Given the description of an element on the screen output the (x, y) to click on. 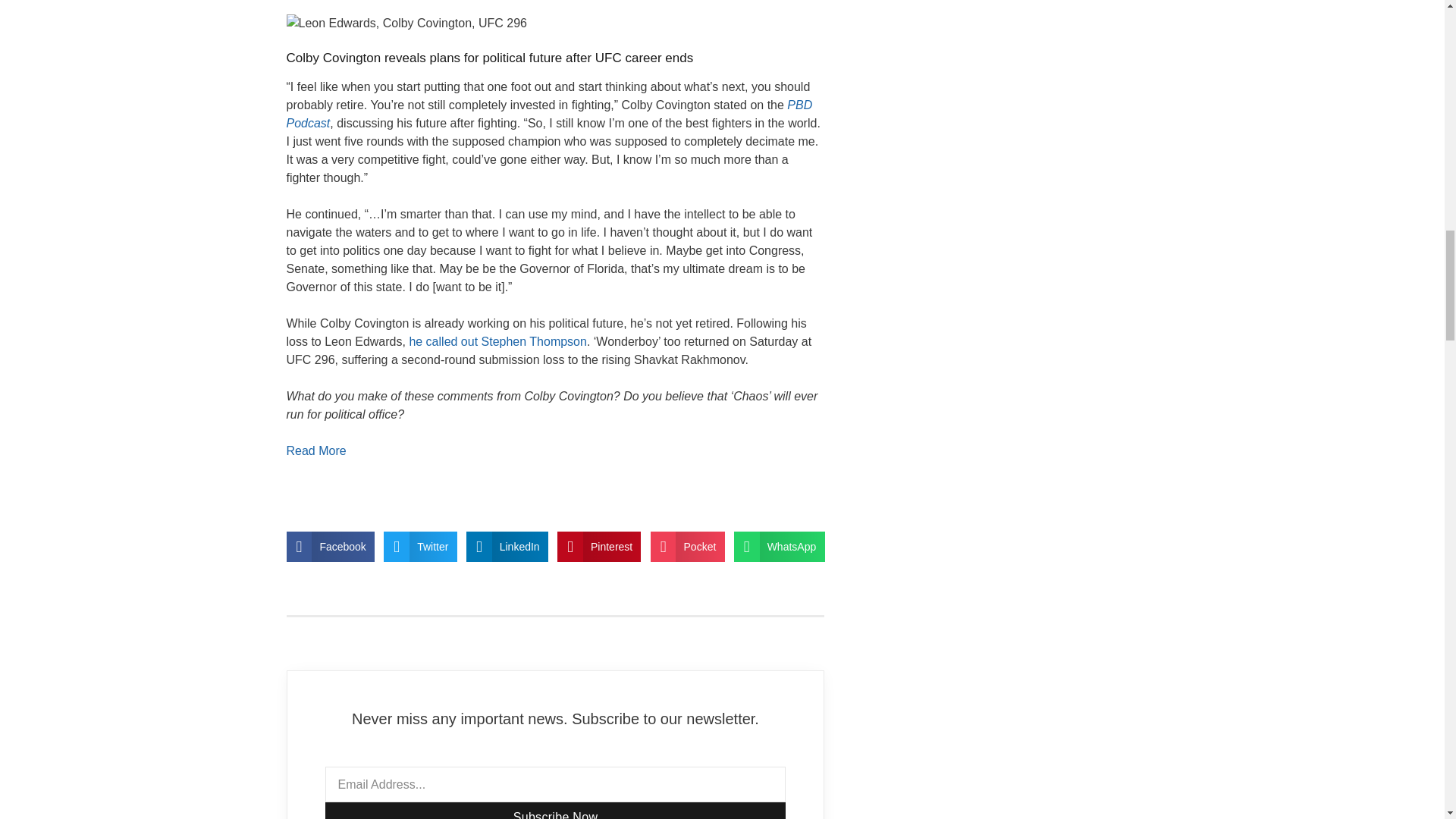
he called out Stephen Thompson (497, 341)
Read More (316, 450)
Subscribe Now (555, 810)
PBD Podcast (549, 113)
